Given the description of an element on the screen output the (x, y) to click on. 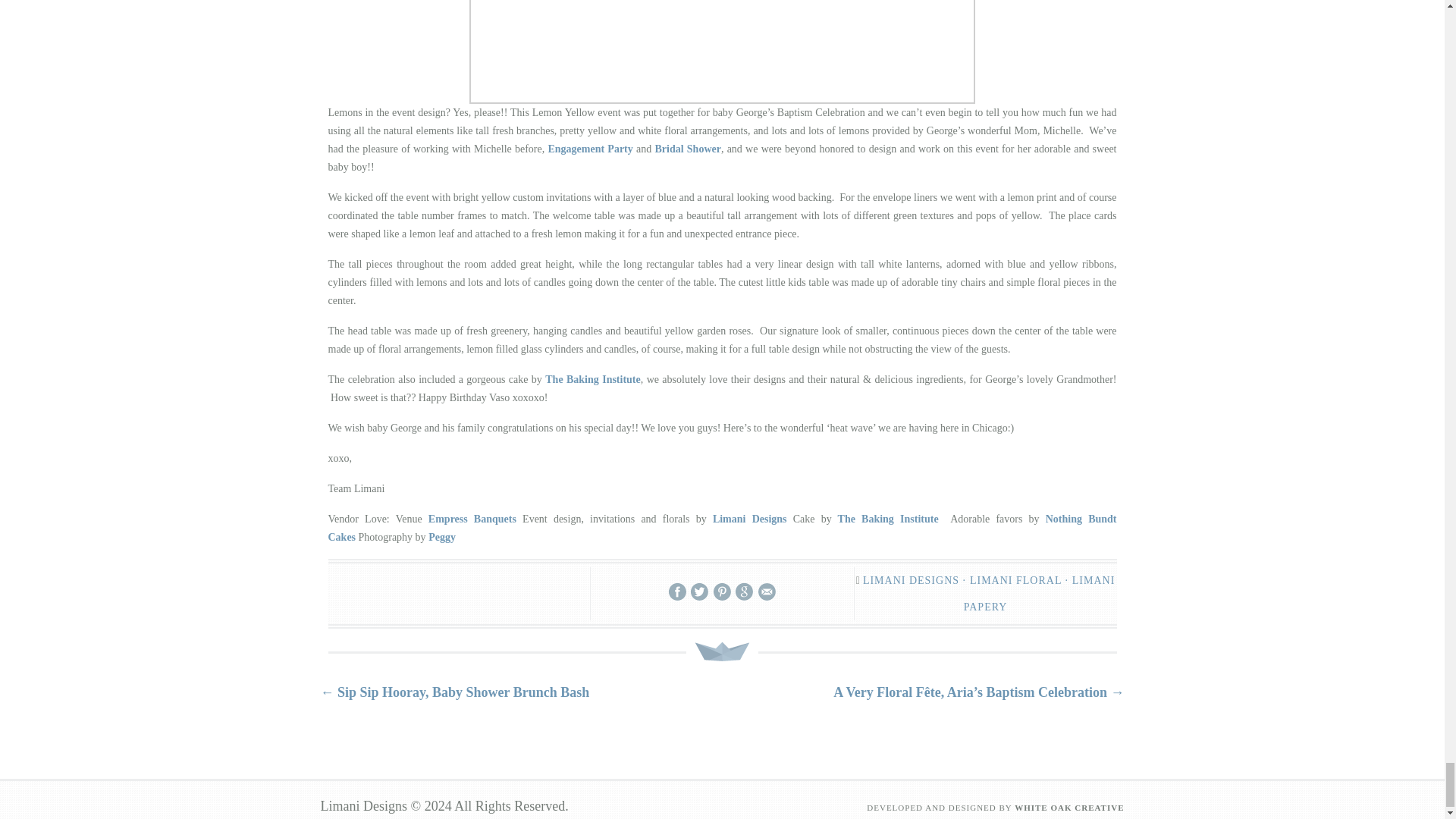
The Baking Institute (592, 378)
Empress Banquets (472, 518)
Peggy (441, 536)
LIMANI PAPERY (1039, 593)
Bridal Shower (686, 148)
LIMANI DESIGNS (911, 580)
The Baking Institute  (887, 518)
WHITE OAK CREATIVE (1069, 807)
Limani Designs (750, 518)
LIMANI FLORAL (1015, 580)
Nothing Bundt Cakes (721, 527)
Engagement Party (589, 148)
White Oak Creative             (1069, 807)
